Given the description of an element on the screen output the (x, y) to click on. 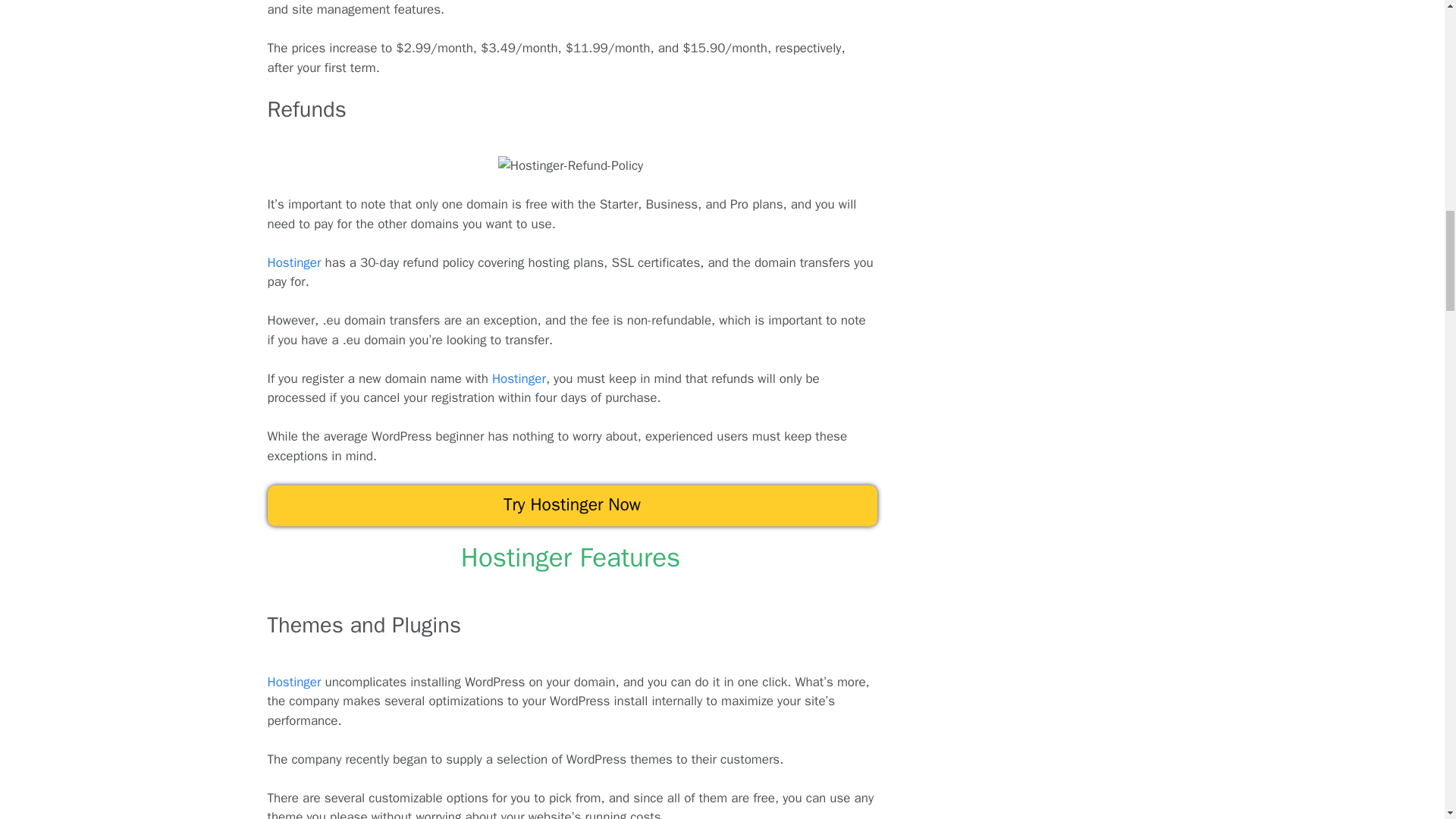
Hostinger (519, 378)
Try Hostinger Now (571, 505)
Hostinger (295, 262)
